Given the description of an element on the screen output the (x, y) to click on. 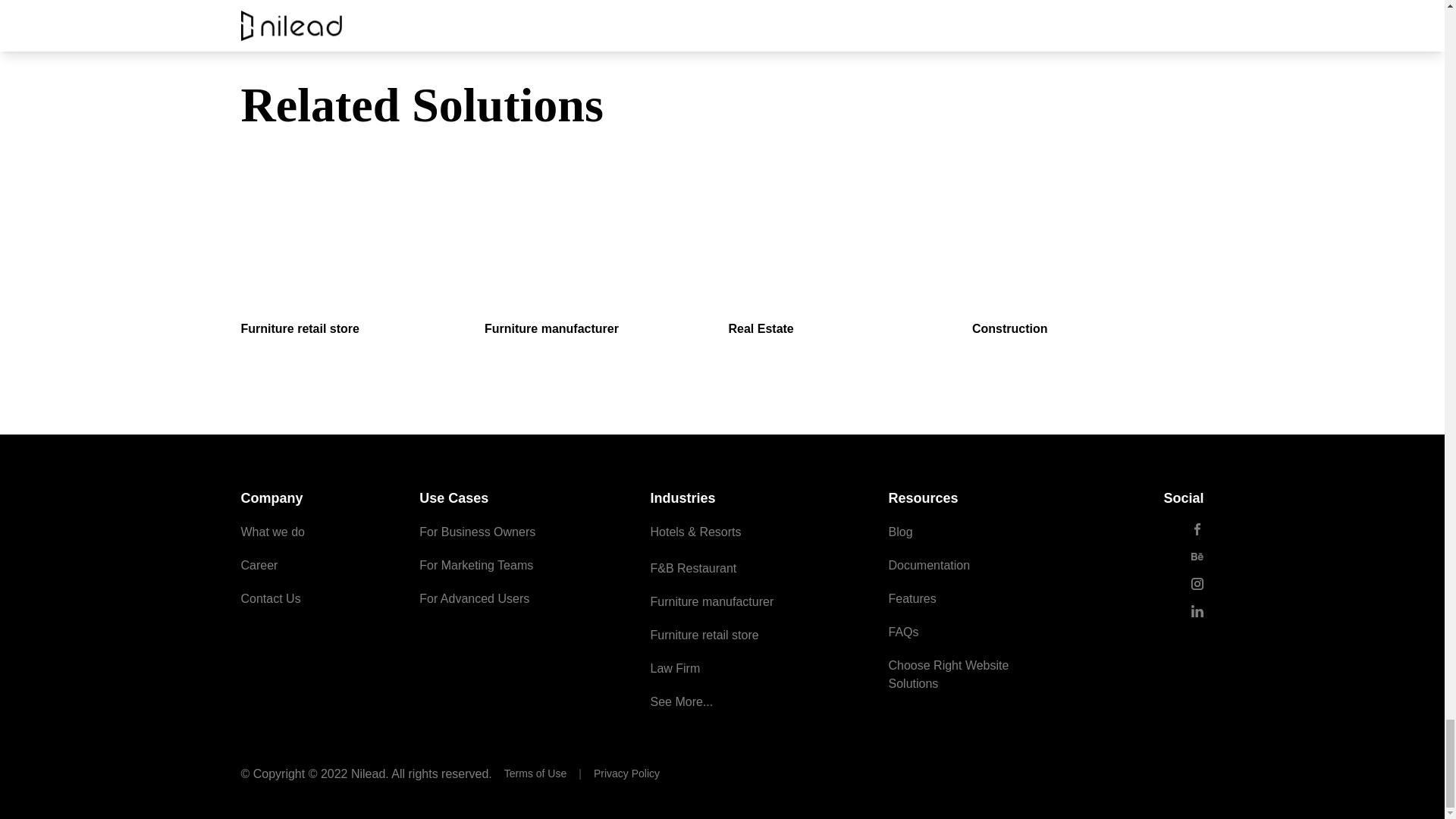
Furniture retail store (357, 266)
Furniture manufacturer (600, 266)
What we do (272, 532)
Real Estate (843, 266)
Construction (1088, 266)
